Given the description of an element on the screen output the (x, y) to click on. 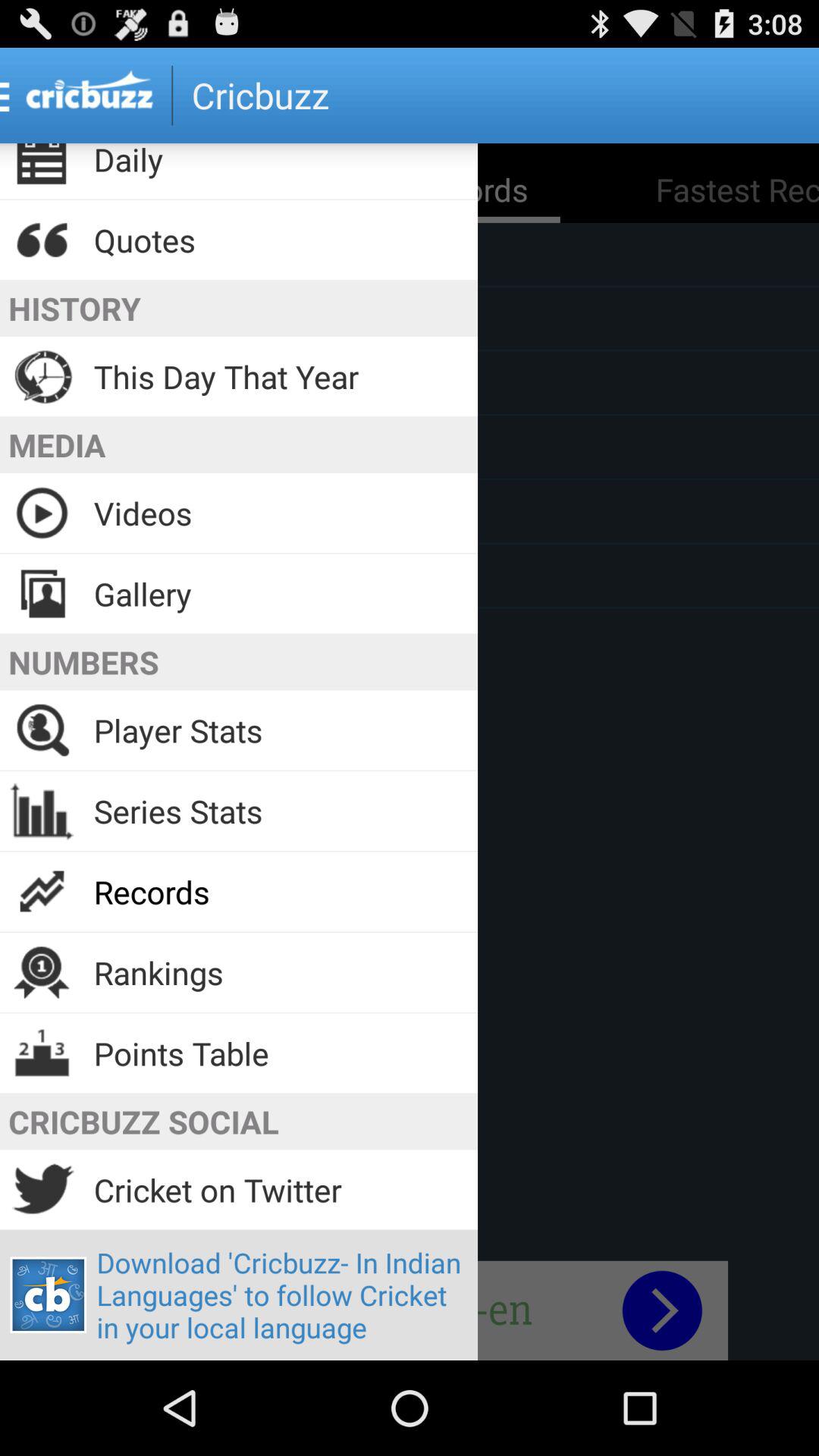
click on the icon below twitter icon (48, 1294)
select the icon which is left to quotes (42, 240)
go to the icon beside daily (42, 166)
